Given the description of an element on the screen output the (x, y) to click on. 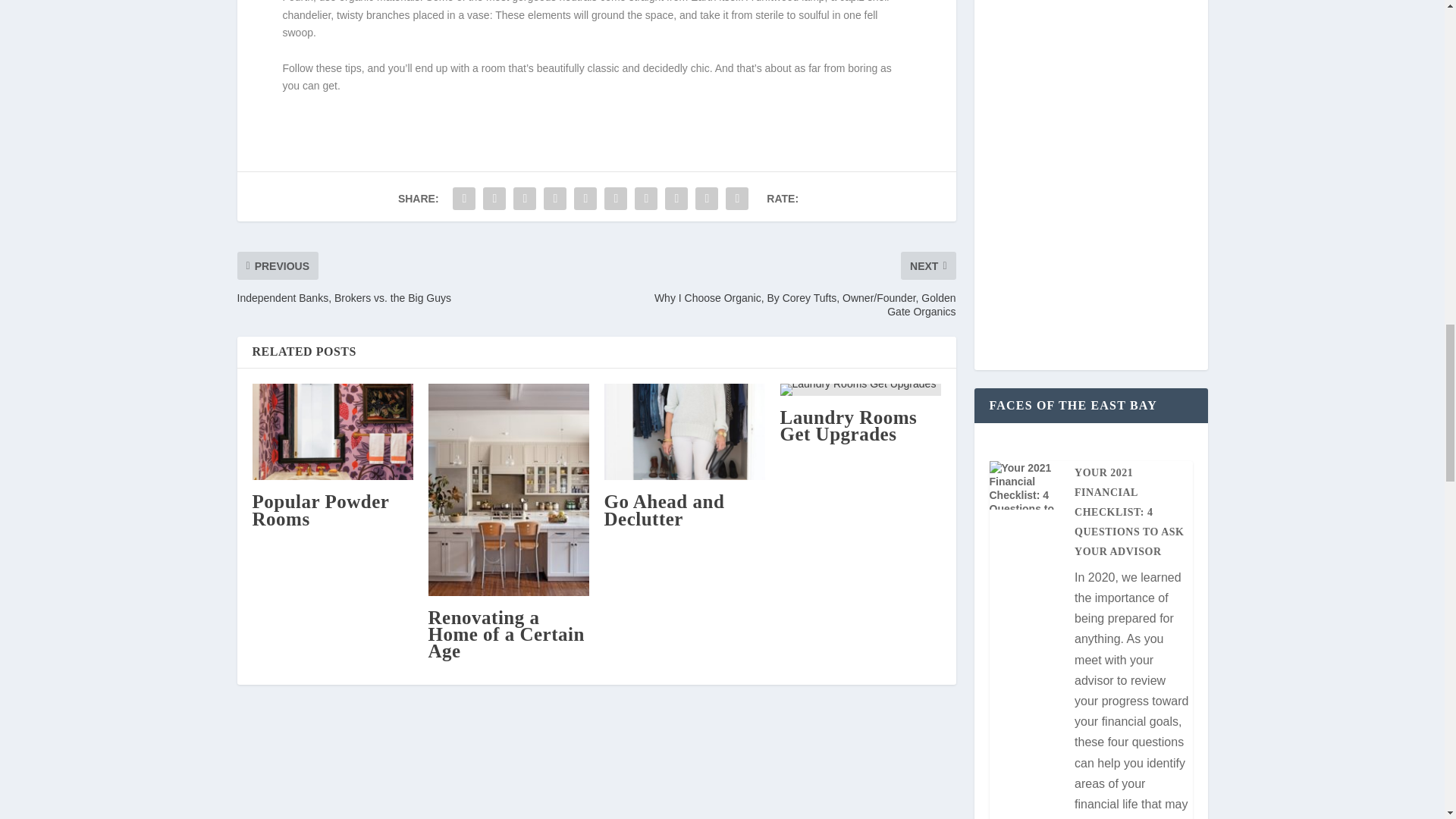
Share "Making Neutral Colors Pop" via Facebook (463, 198)
Laundry Rooms Get Upgrades (847, 425)
Renovating a Home of a Certain Age (505, 633)
Share "Making Neutral Colors Pop" via LinkedIn (614, 198)
Share "Making Neutral Colors Pop" via Twitter (494, 198)
Go Ahead and Declutter (663, 509)
Share "Making Neutral Colors Pop" via Pinterest (584, 198)
Share "Making Neutral Colors Pop" via Tumblr (555, 198)
Popular Powder Rooms (319, 509)
